Given the description of an element on the screen output the (x, y) to click on. 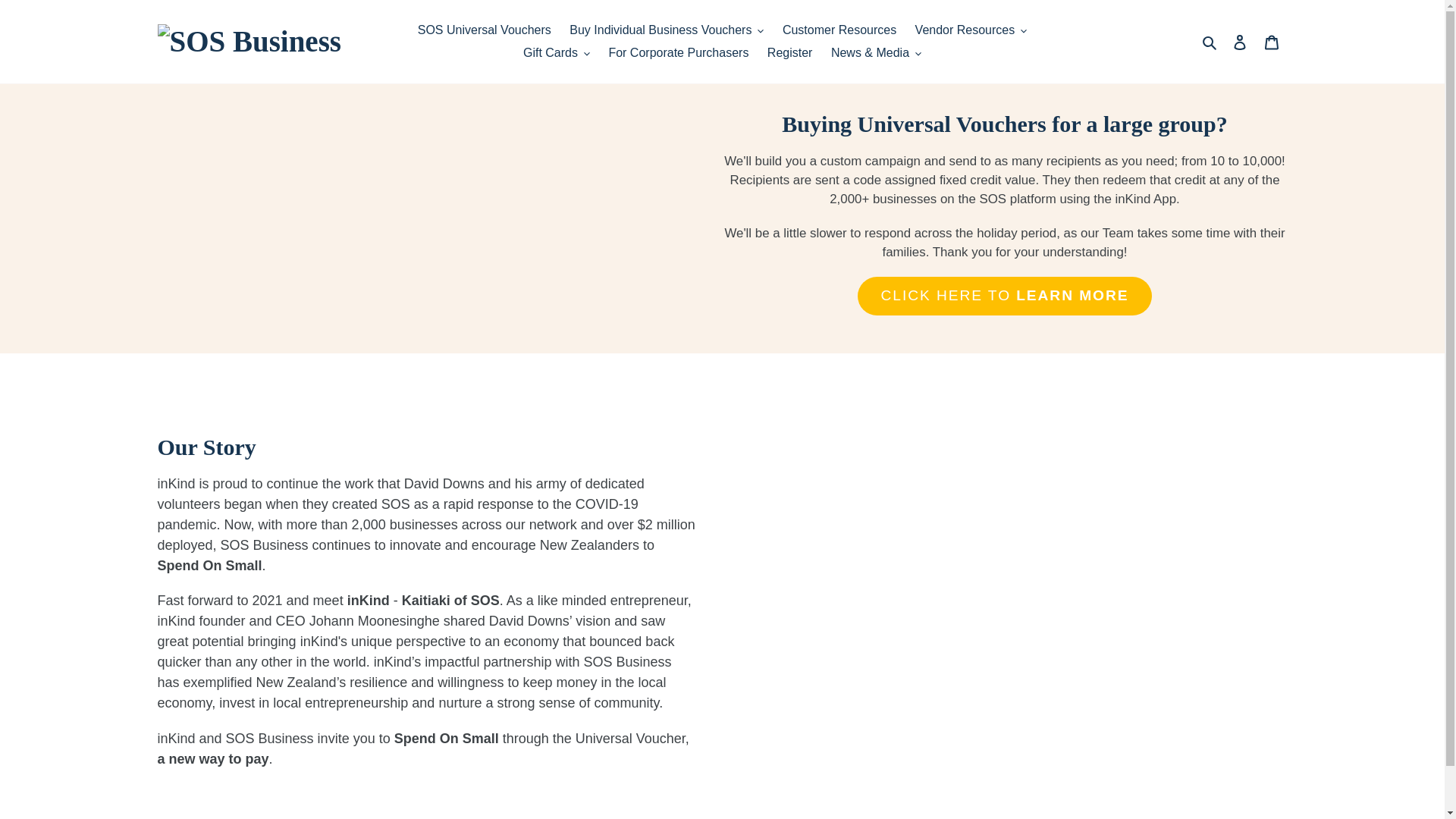
SOS Universal Vouchers (484, 29)
Buy Individual Business Vouchers (666, 29)
Customer Resources (839, 29)
